Given the description of an element on the screen output the (x, y) to click on. 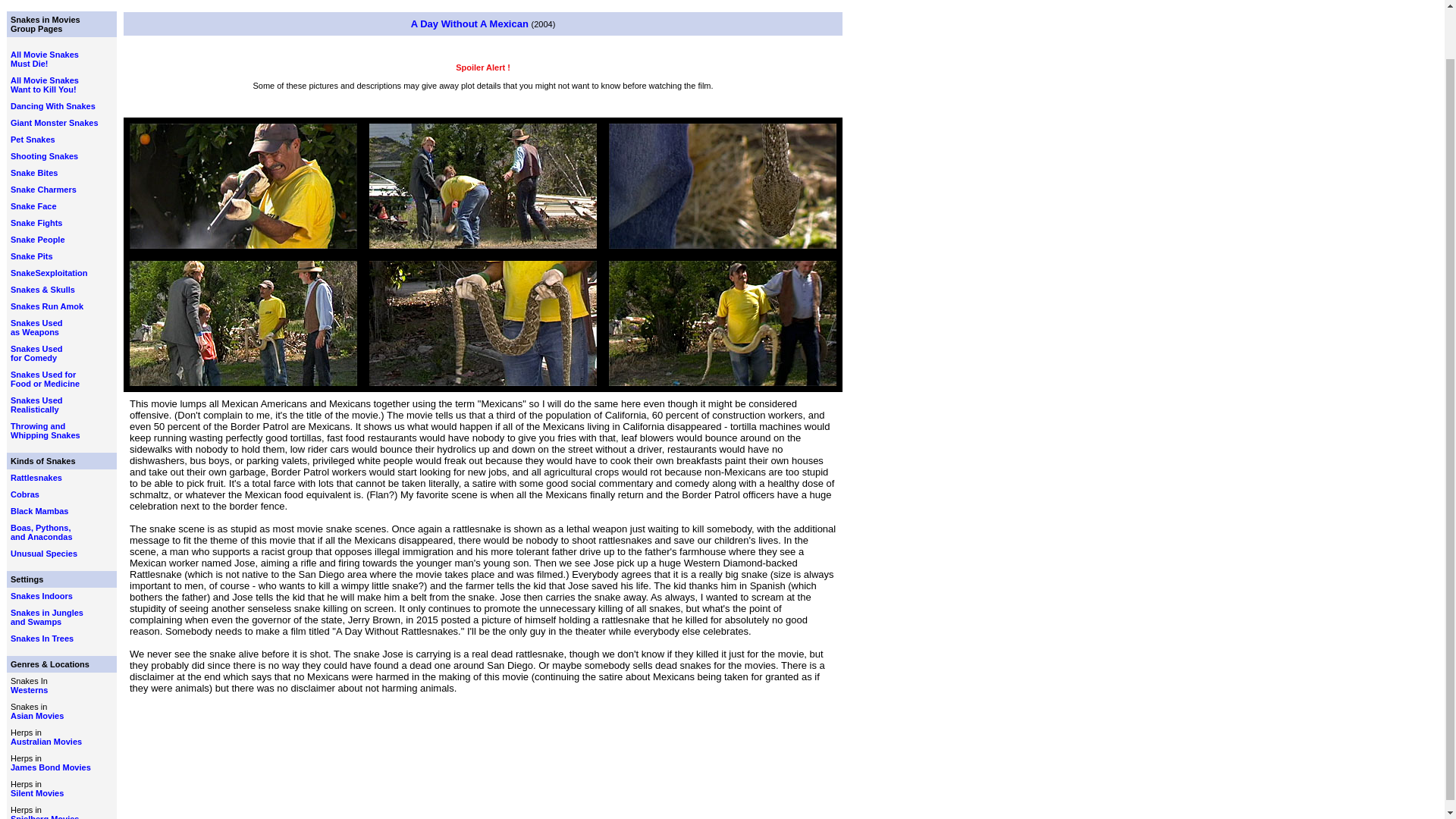
Snake Charmers (43, 189)
Shooting Snakes (44, 155)
Rattlesnakes (45, 430)
Snake Fights (36, 477)
Snake Bites (44, 62)
Westerns (36, 222)
Snake Face (36, 352)
Cobras (34, 172)
